Given the description of an element on the screen output the (x, y) to click on. 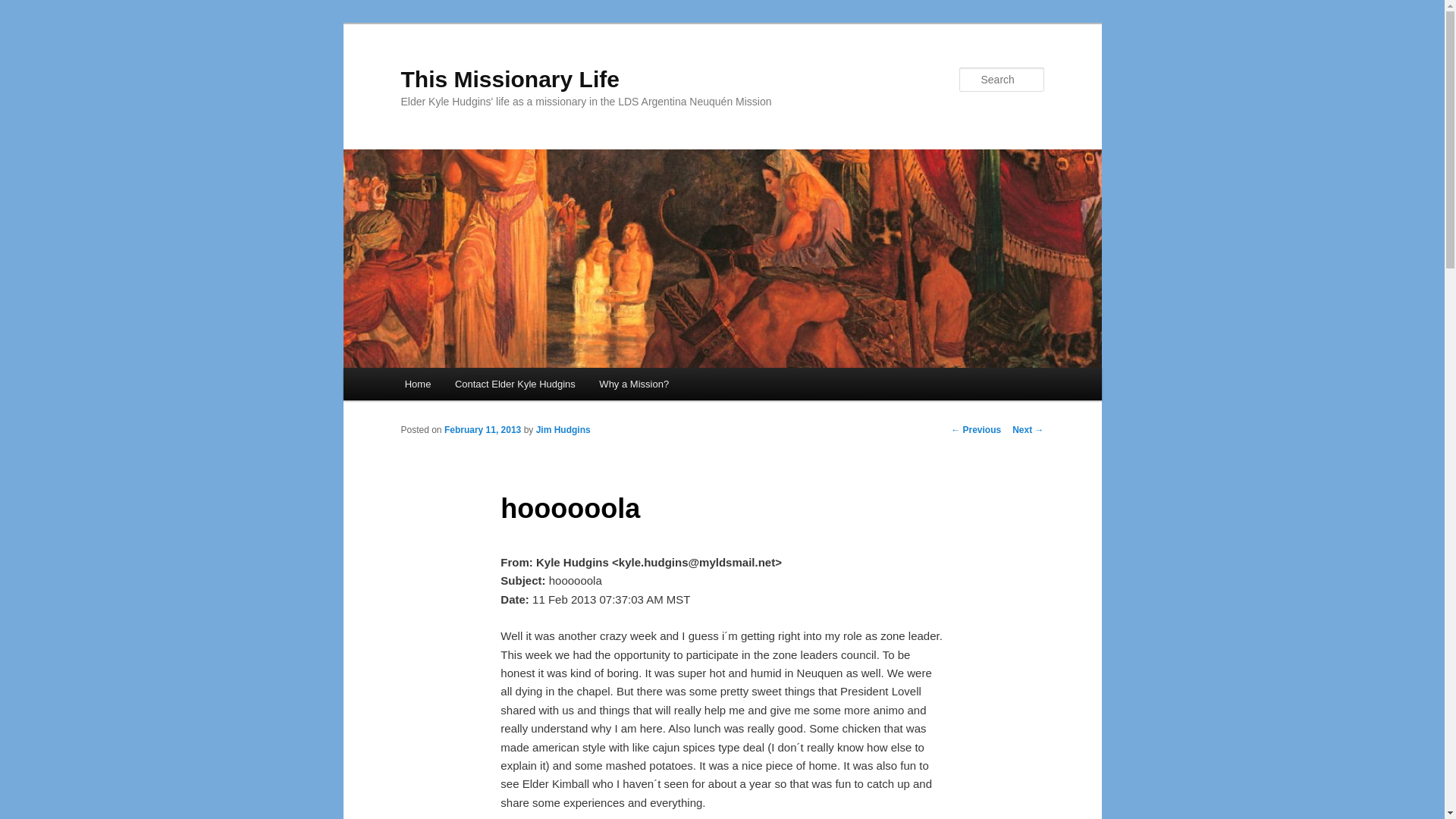
This Missionary Life (509, 78)
8:22 am (482, 429)
Why a Mission? (634, 383)
February 11, 2013 (482, 429)
Jim Hudgins (563, 429)
Search (24, 8)
Contact Elder Kyle Hudgins (514, 383)
Home (417, 383)
View all posts by Jim Hudgins (563, 429)
